Given the description of an element on the screen output the (x, y) to click on. 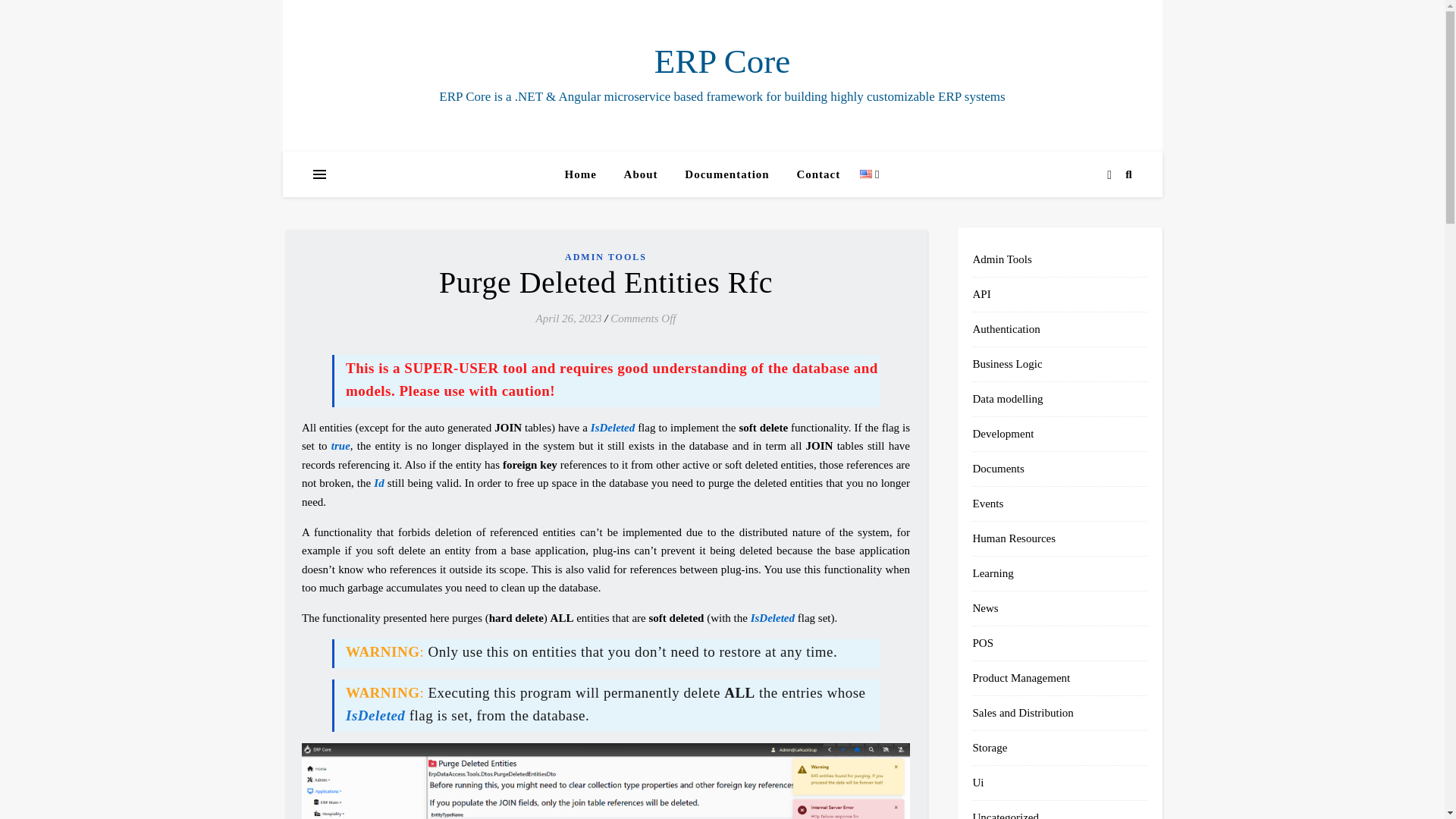
Home (586, 174)
Documentation (726, 174)
ERP Core (721, 61)
Contact (817, 174)
About (640, 174)
